Given the description of an element on the screen output the (x, y) to click on. 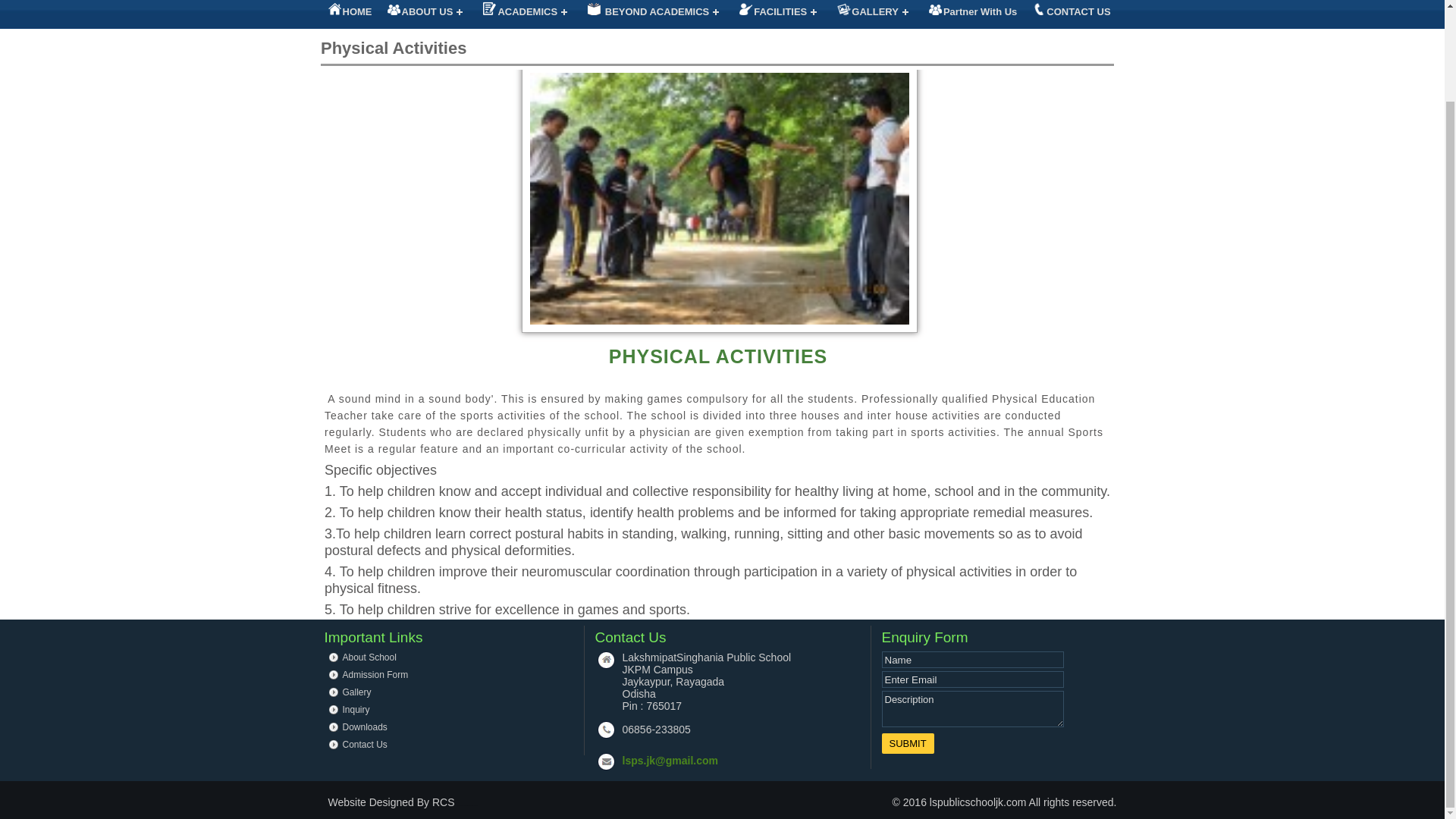
Name (971, 659)
ACADEMICS (527, 14)
HOME (349, 14)
SUBMIT (906, 743)
Enter Email (971, 678)
ABOUT US (427, 14)
BEYOND ACADEMICS (655, 14)
